Given the description of an element on the screen output the (x, y) to click on. 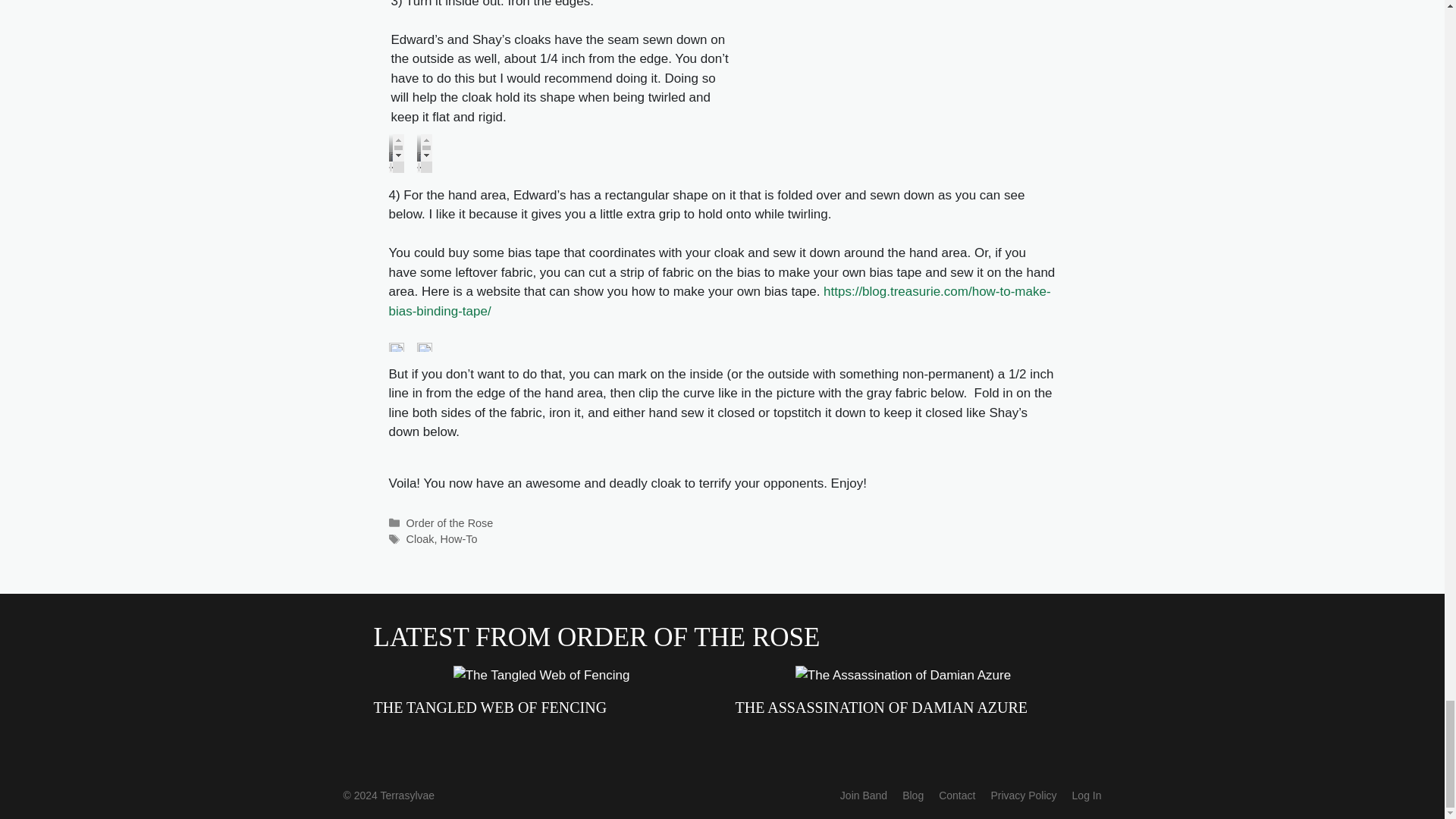
Privacy Policy (1023, 795)
Blog (912, 795)
Contact (957, 795)
Order of the Rose (449, 522)
Cloak (419, 539)
THE ASSASSINATION OF DAMIAN AZURE (881, 707)
THE TANGLED WEB OF FENCING (489, 707)
The Tangled Web of Fencing (541, 675)
Join Band (863, 795)
The Assassination of Damian Azure (902, 675)
